Given the description of an element on the screen output the (x, y) to click on. 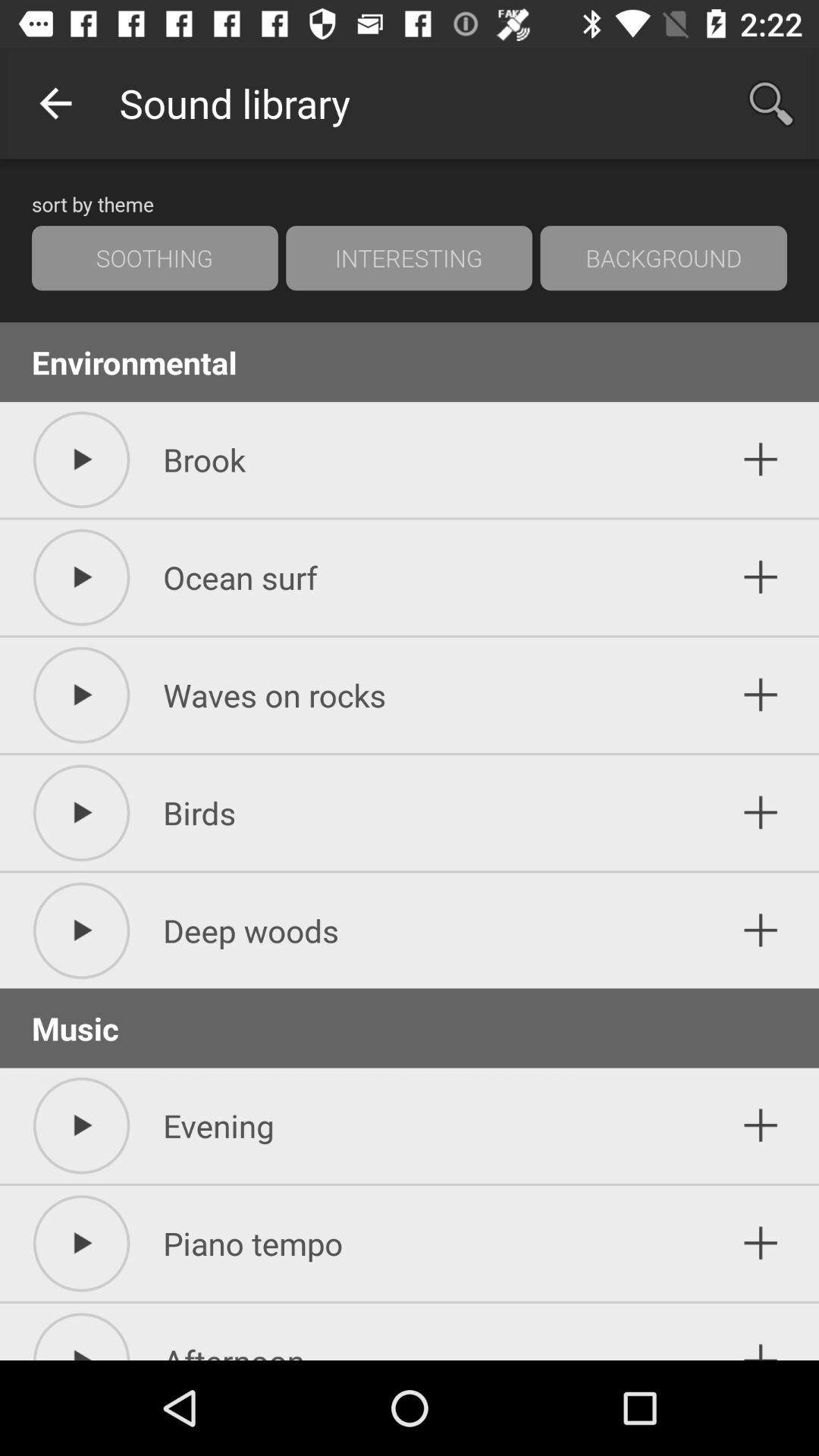
add to sound library (761, 1335)
